Given the description of an element on the screen output the (x, y) to click on. 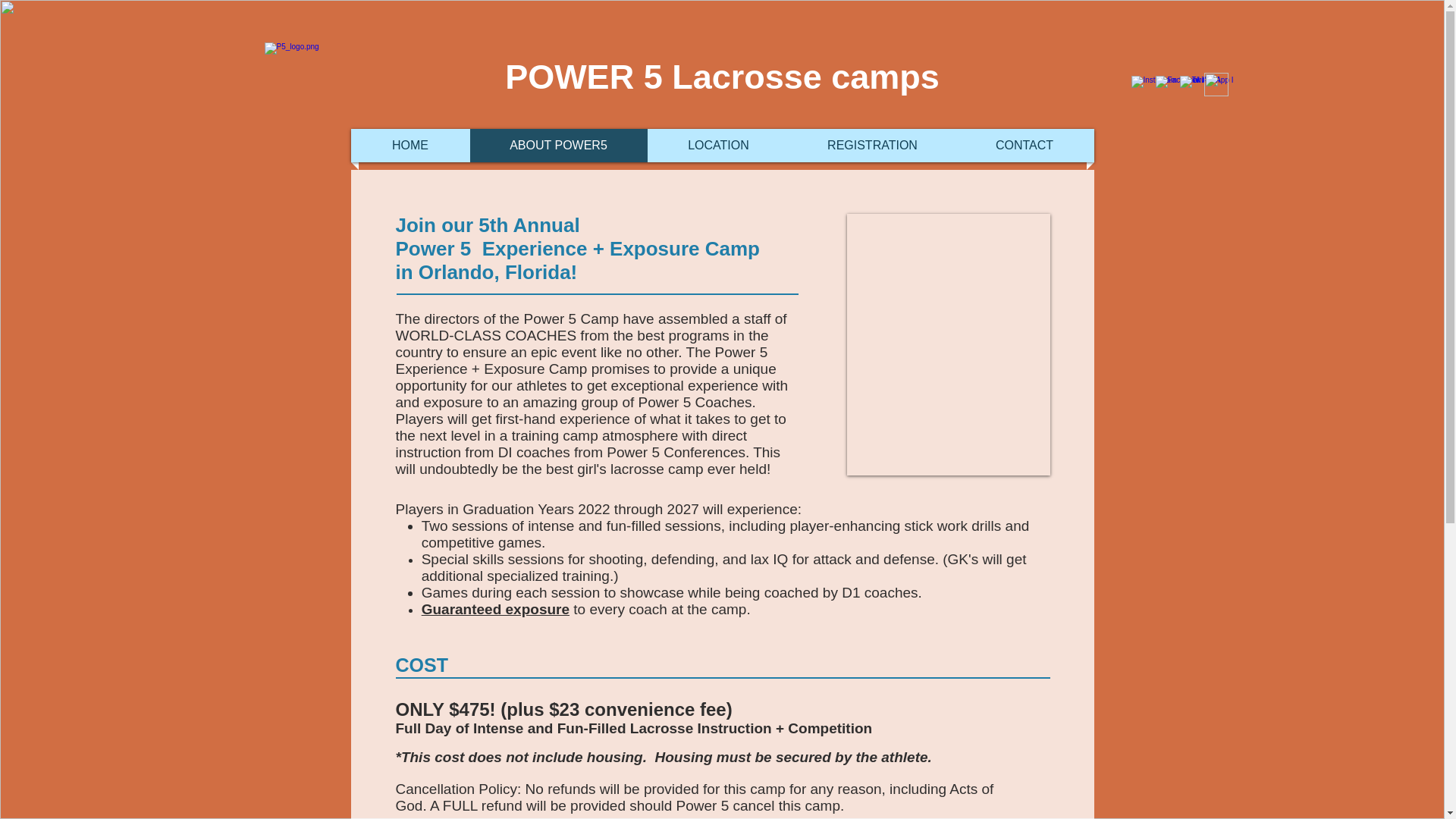
HOME (409, 145)
REGISTRATION (872, 145)
LOCATION (718, 145)
CONTACT (1024, 145)
ABOUT POWER5 (558, 145)
